Given the description of an element on the screen output the (x, y) to click on. 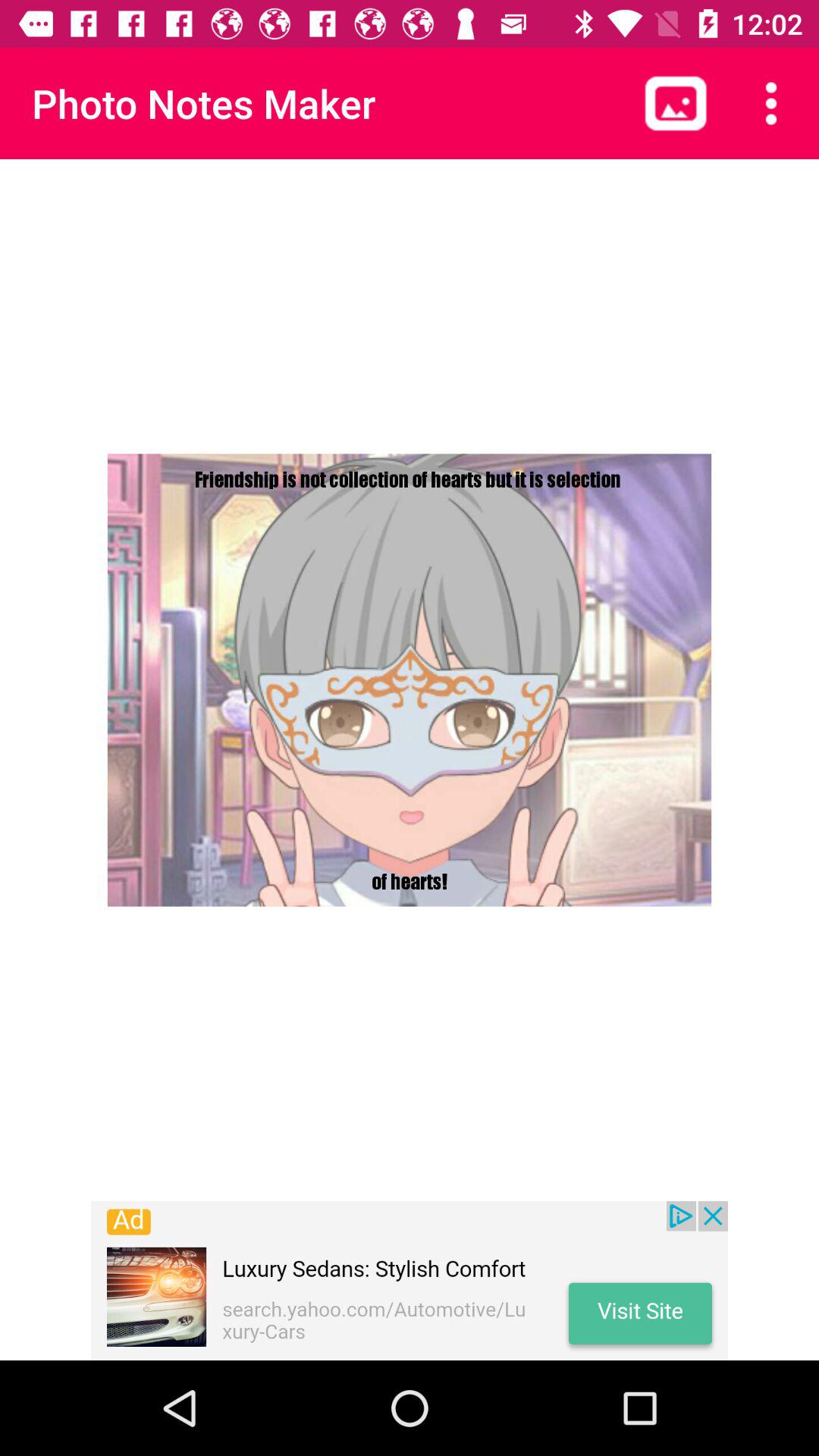
view photos (675, 103)
